Given the description of an element on the screen output the (x, y) to click on. 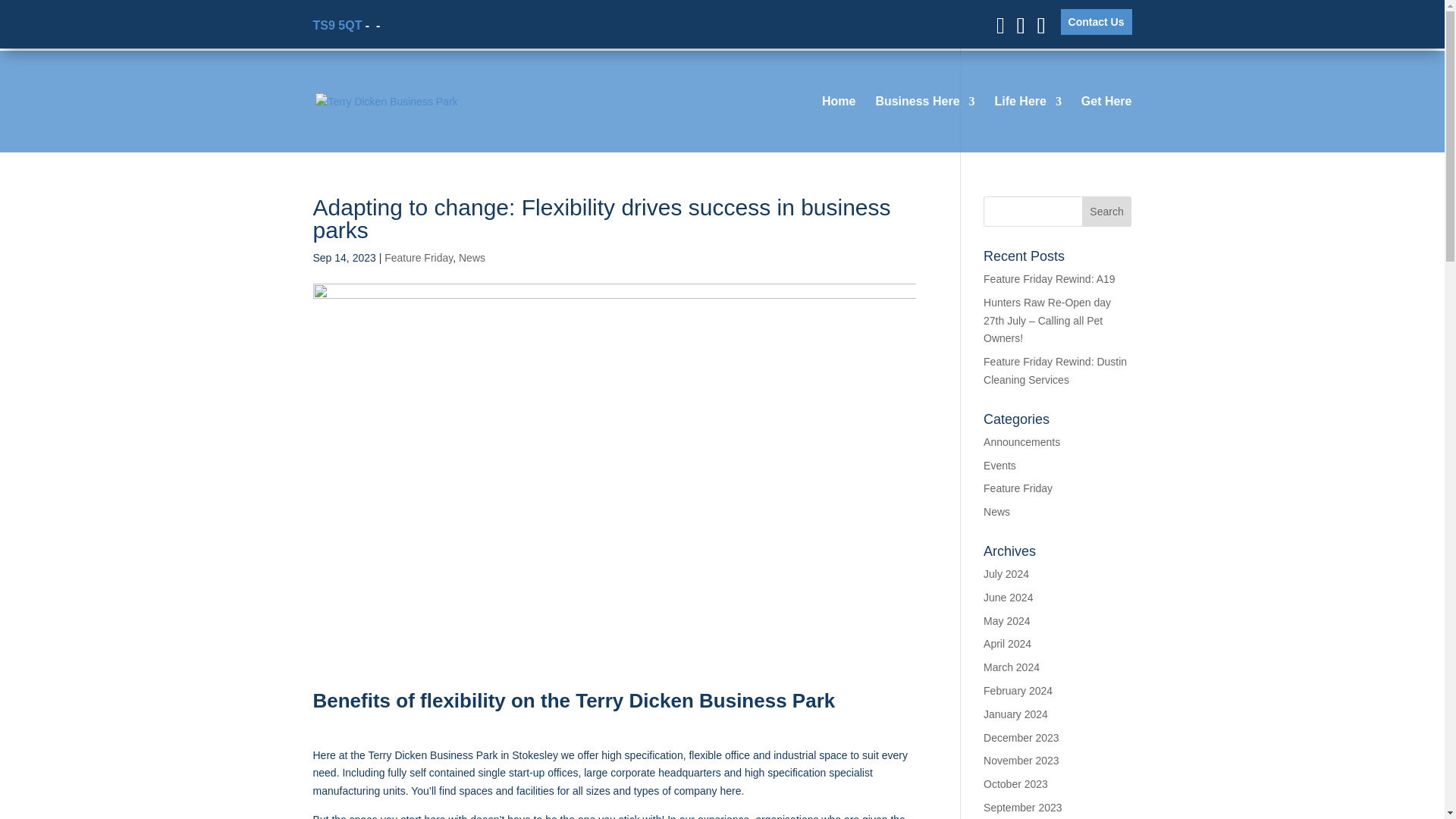
Home (839, 124)
Life Here (1027, 124)
Search (1106, 211)
Get Here (1106, 124)
May 2024 (1006, 621)
Events (1000, 465)
Feature Friday Rewind: Dustin Cleaning Services (1055, 370)
News (471, 257)
Business Here (924, 124)
Feature Friday (418, 257)
June 2024 (1008, 597)
Search (1106, 211)
Feature Friday (1018, 488)
July 2024 (1006, 573)
TS9 5QT (337, 24)
